Given the description of an element on the screen output the (x, y) to click on. 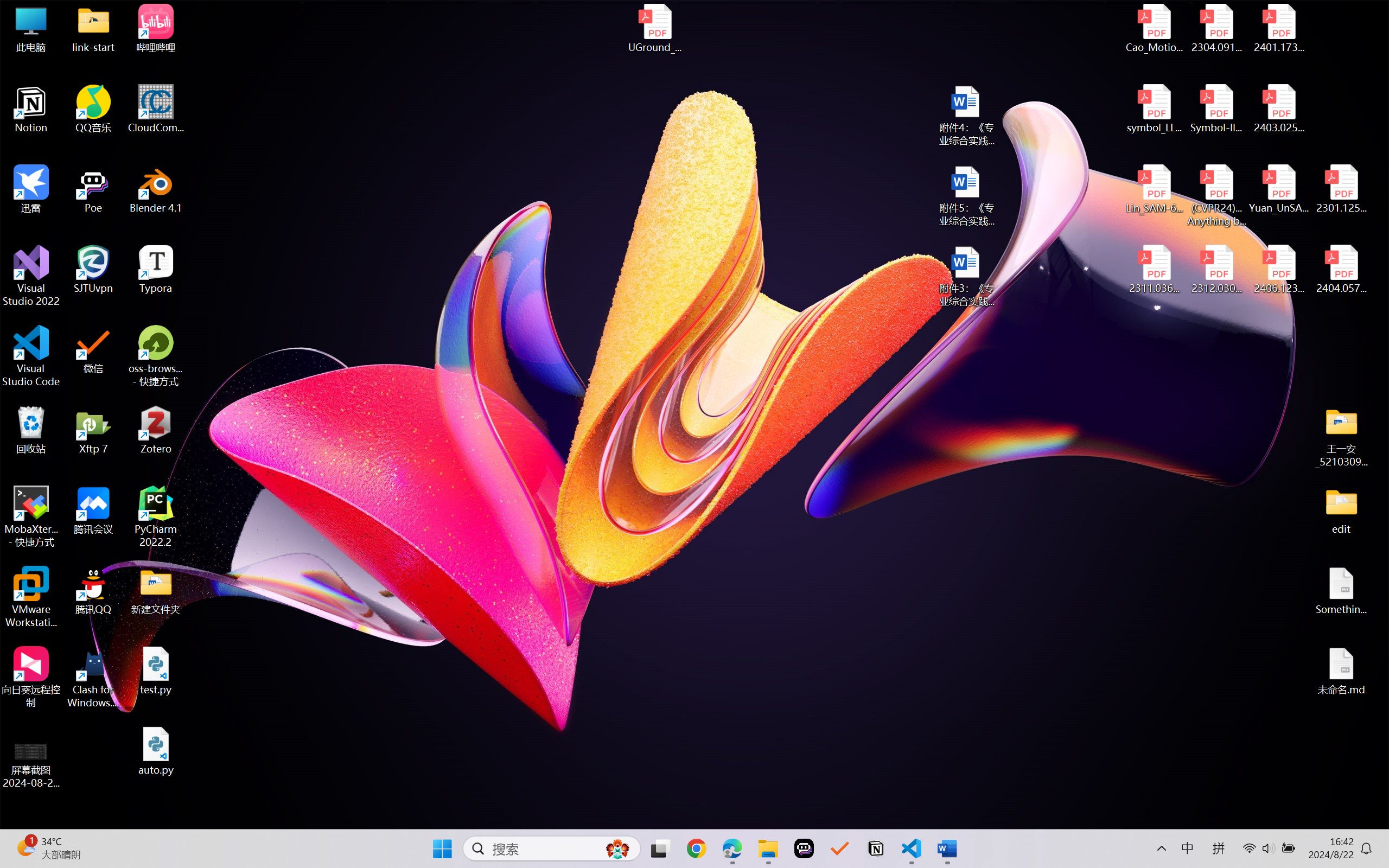
Visual Studio Code (31, 355)
CloudCompare (156, 109)
Visual Studio 2022 (31, 276)
2312.03032v2.pdf (1216, 269)
edit (1340, 510)
2403.02502v1.pdf (1278, 109)
Symbol-llm-v2.pdf (1216, 109)
